Given the description of an element on the screen output the (x, y) to click on. 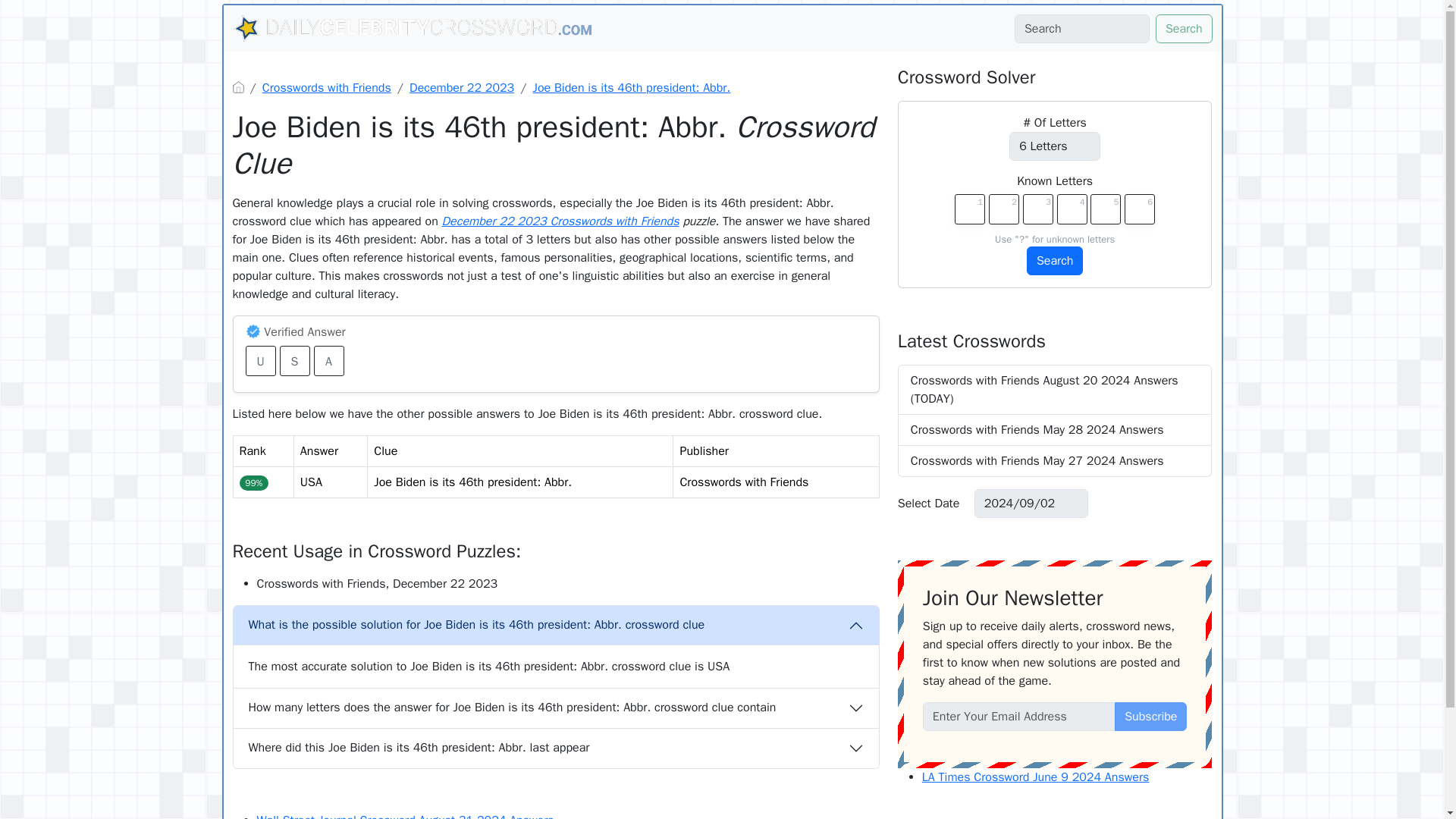
LA Times Crossword June 9 2024 Answers (1035, 776)
Subscribe (1150, 716)
Search (1054, 260)
Wall Street Journal Crossword August 31 2024 Answers (404, 816)
Crosswords with Friends May 28 2024 Answers (1055, 429)
2024-09-02 (1030, 502)
Crosswords with Friends May 27 2024 Answers (1055, 460)
Crosswords with Friends (326, 87)
